Given the description of an element on the screen output the (x, y) to click on. 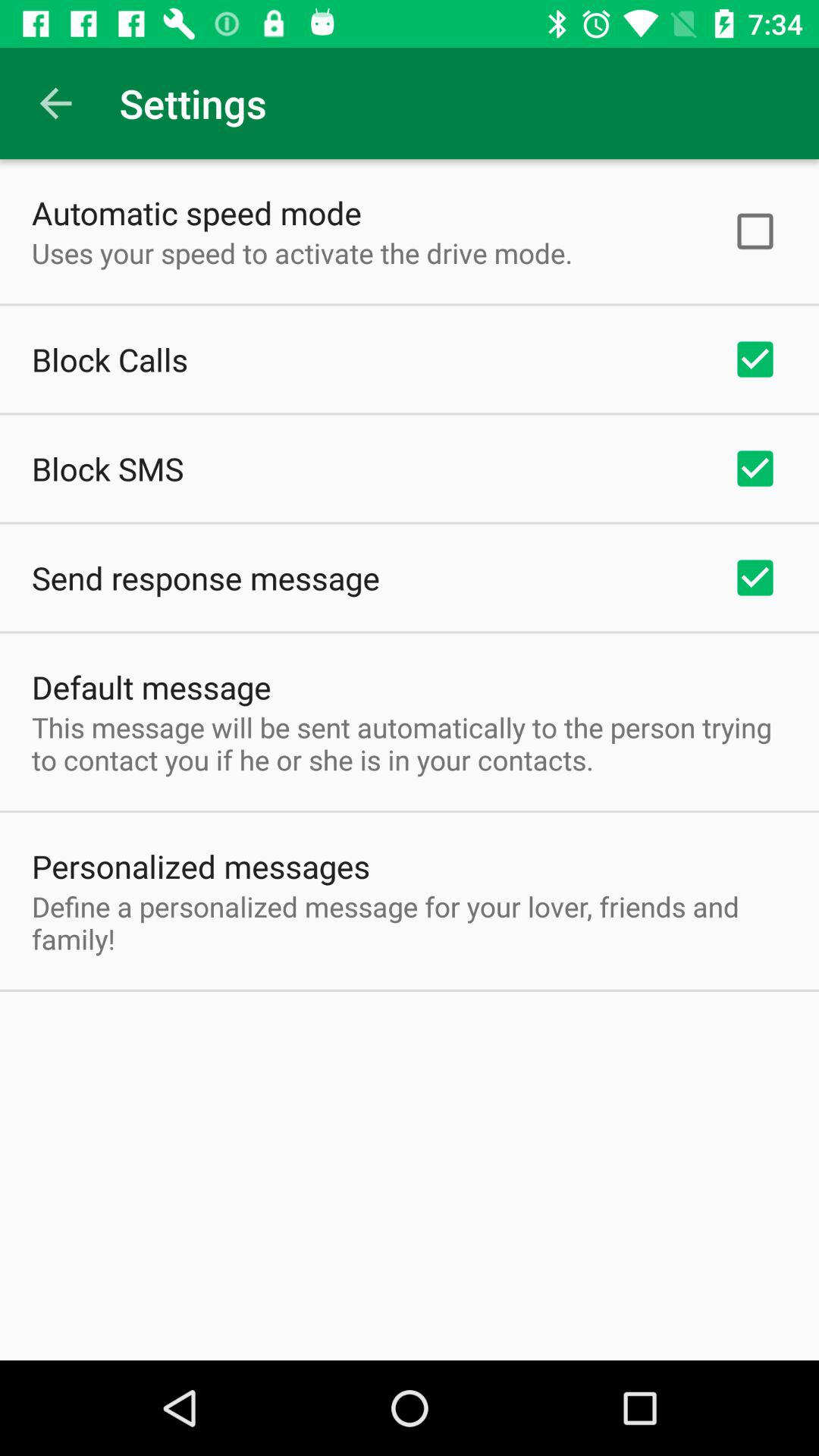
choose icon above send response message app (107, 468)
